Given the description of an element on the screen output the (x, y) to click on. 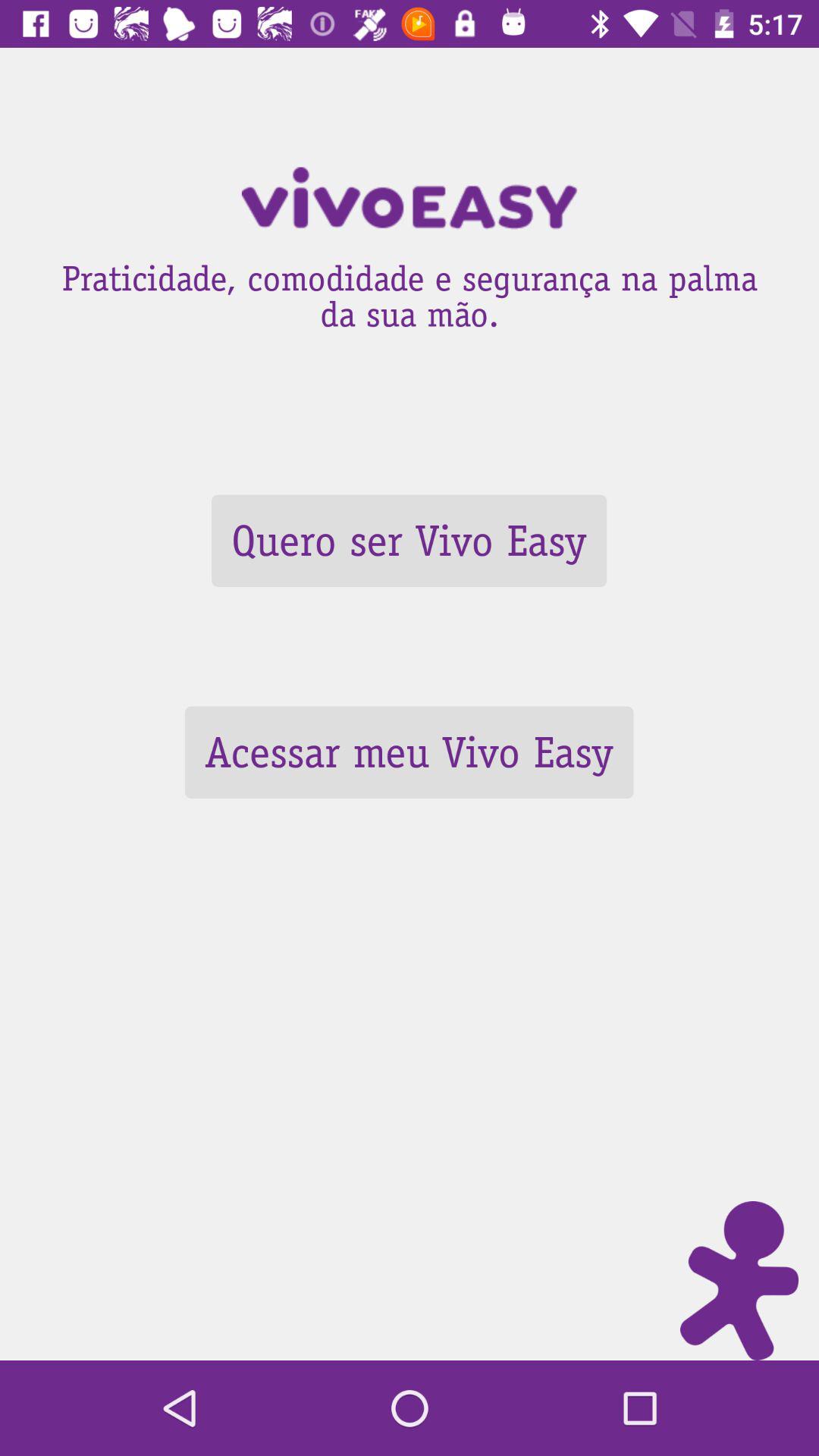
turn on the item below quero ser vivo (408, 752)
